Given the description of an element on the screen output the (x, y) to click on. 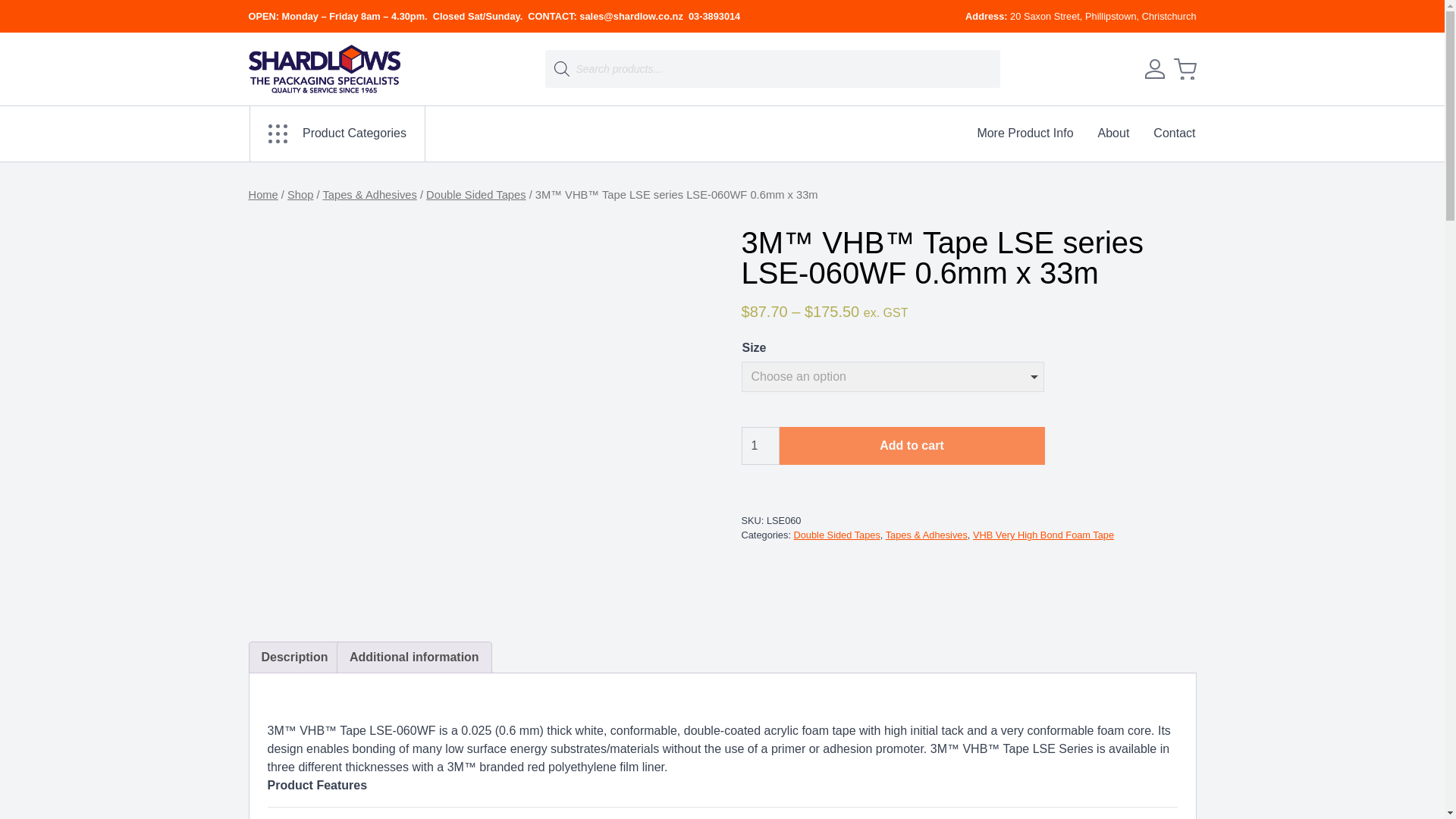
1 (759, 445)
Contact (1168, 132)
About (1113, 132)
More Product Info (1023, 132)
